Given the description of an element on the screen output the (x, y) to click on. 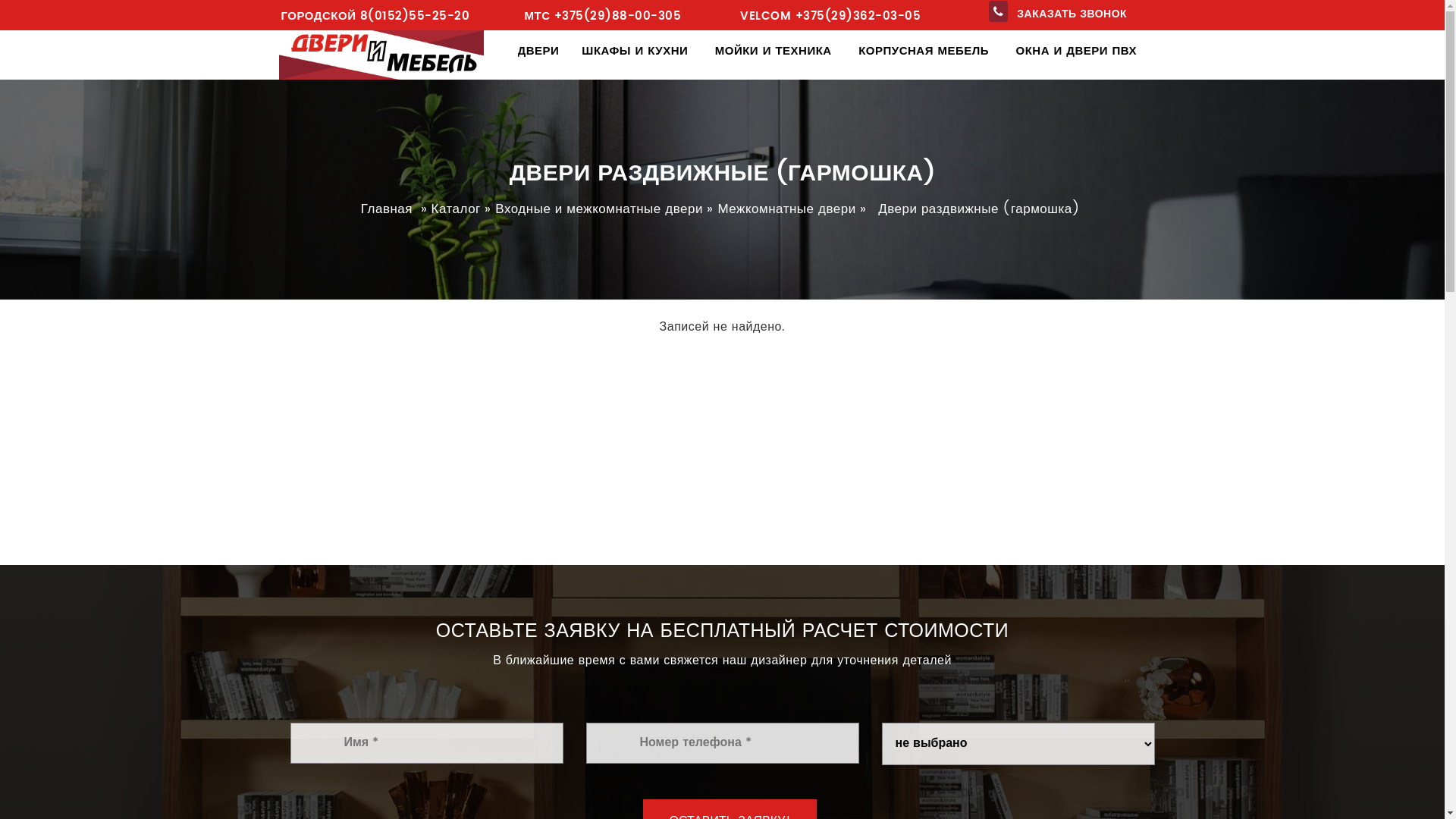
VELCOM +375(29)362-03-05 Element type: text (830, 15)
